Given the description of an element on the screen output the (x, y) to click on. 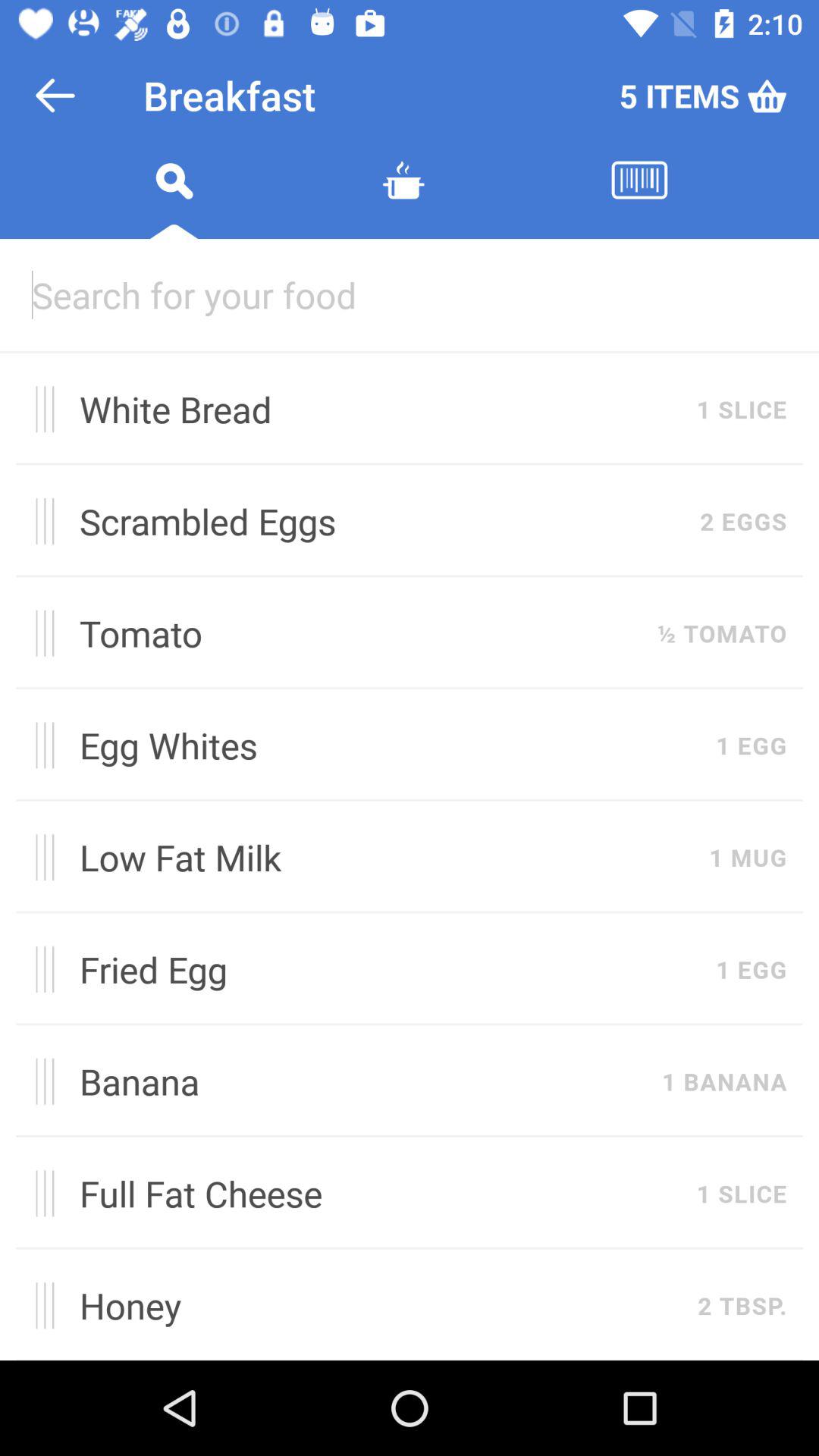
turn off the icon to the left of the banana (39, 1081)
